Given the description of an element on the screen output the (x, y) to click on. 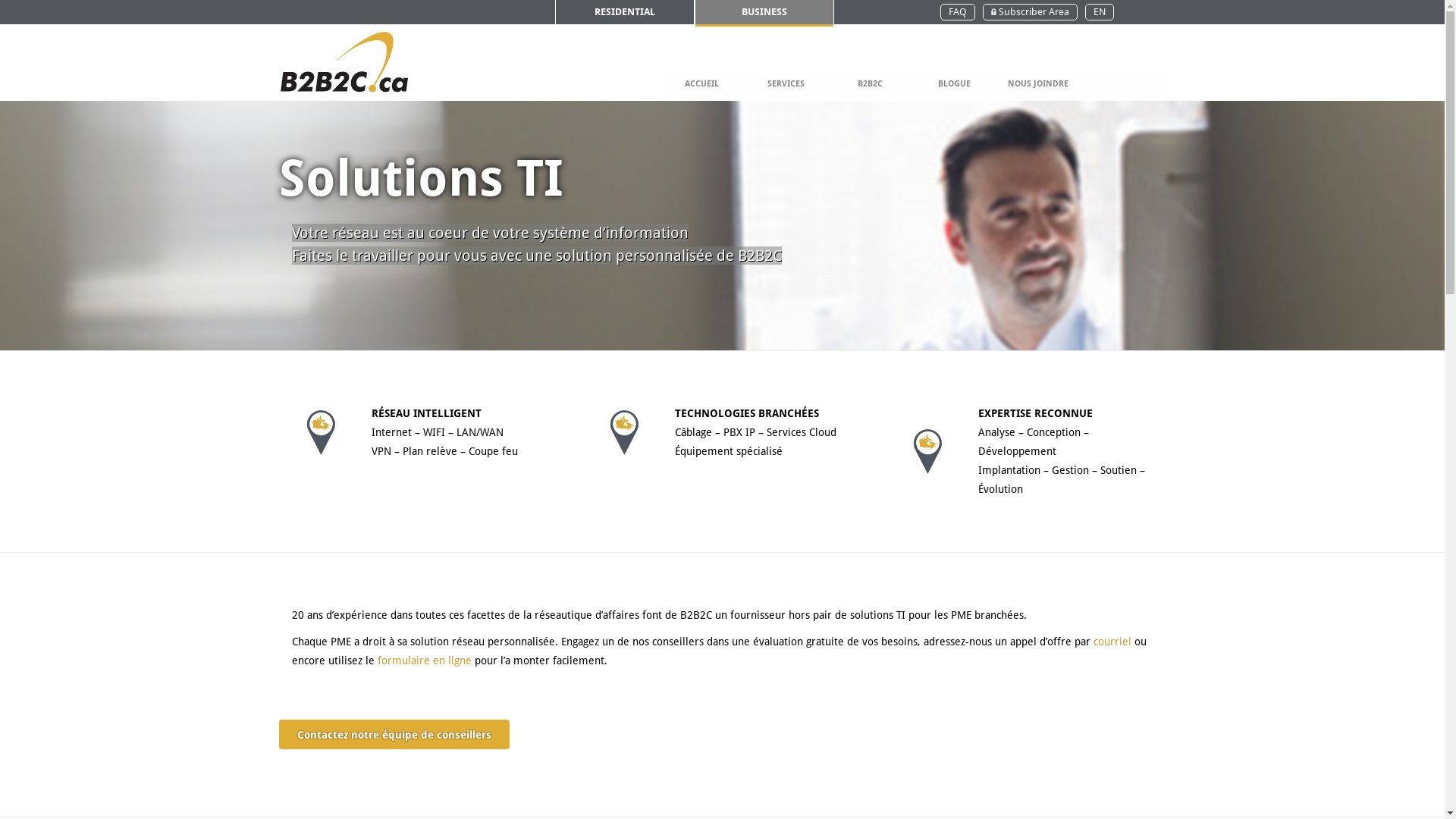
Subscriber Area Element type: text (1030, 12)
EN Element type: text (1099, 12)
Accueil Element type: text (1046, 84)
B2B2C, busines services Element type: hover (343, 62)
ACCUEIL Element type: text (702, 83)
Soumettre Element type: text (816, 228)
FAQ Element type: text (957, 12)
NOUS JOINDRE Element type: text (1037, 83)
SERVICES Element type: text (785, 83)
BUSINESS Element type: text (764, 12)
B2B2C Element type: text (870, 83)
BLOGUE Element type: text (954, 83)
courriel Element type: text (1112, 641)
RESIDENTIAL Element type: text (624, 12)
formulaire en ligne Element type: text (422, 660)
